Given the description of an element on the screen output the (x, y) to click on. 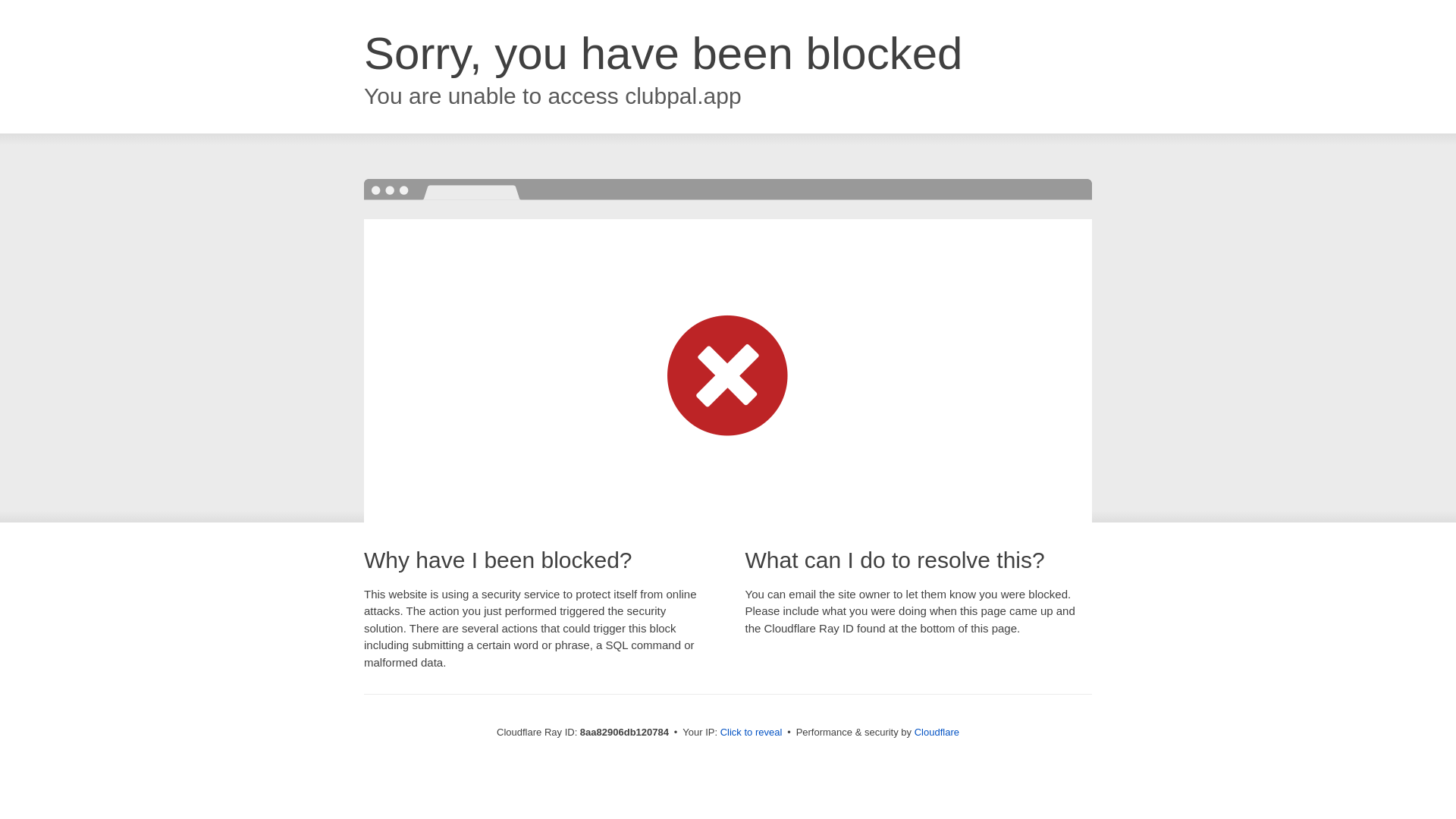
Click to reveal (751, 732)
Cloudflare (936, 731)
